Given the description of an element on the screen output the (x, y) to click on. 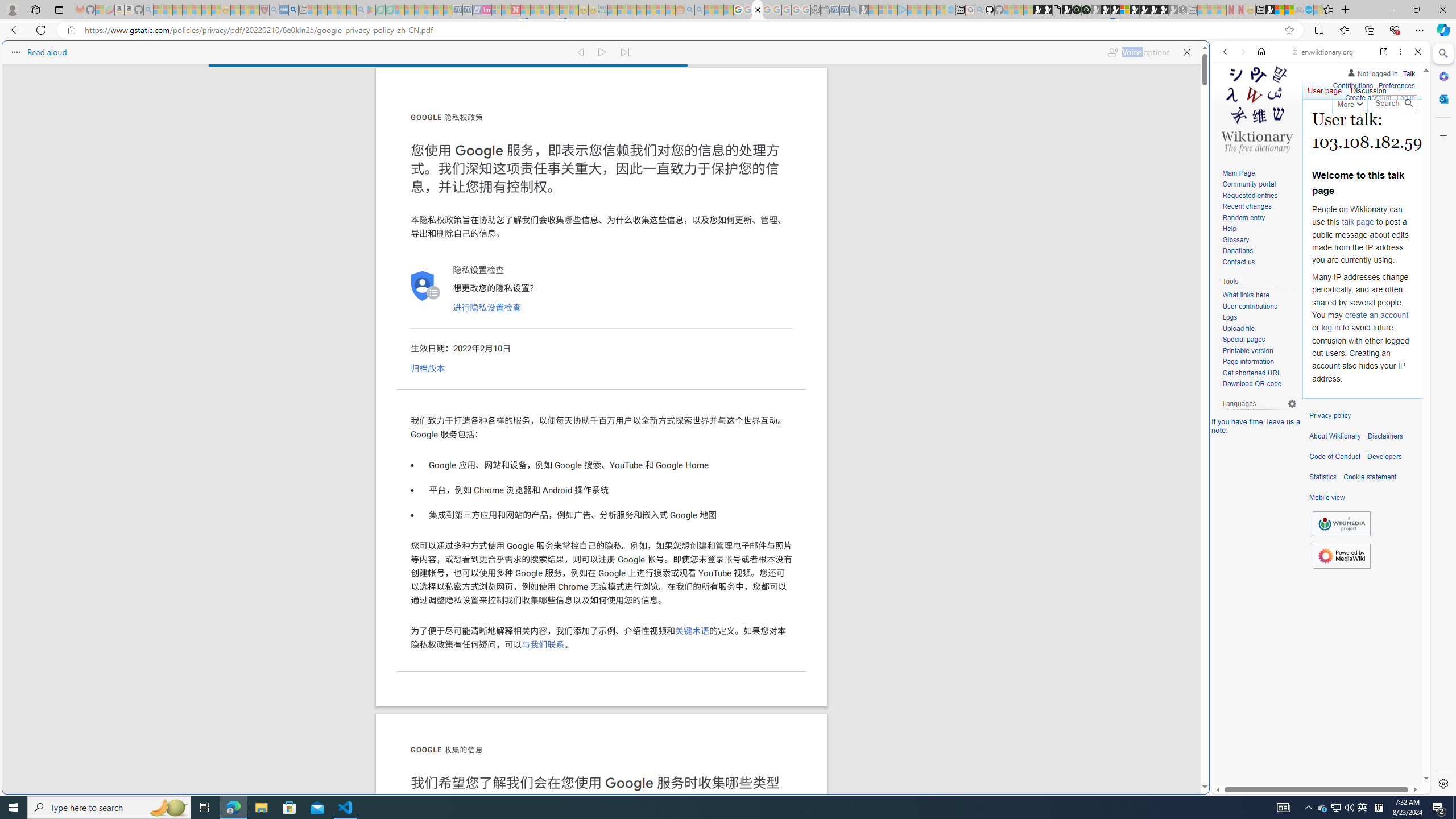
AutomationID: footer-copyrightico (1341, 523)
Upload file (1238, 328)
Close split screen (1208, 57)
Random entry (1259, 218)
utah sues federal government - Search (292, 9)
Recipes - MSN - Sleeping (234, 9)
What links here (1245, 295)
Bing Real Estate - Home sales and rental listings - Sleeping (853, 9)
